Given the description of an element on the screen output the (x, y) to click on. 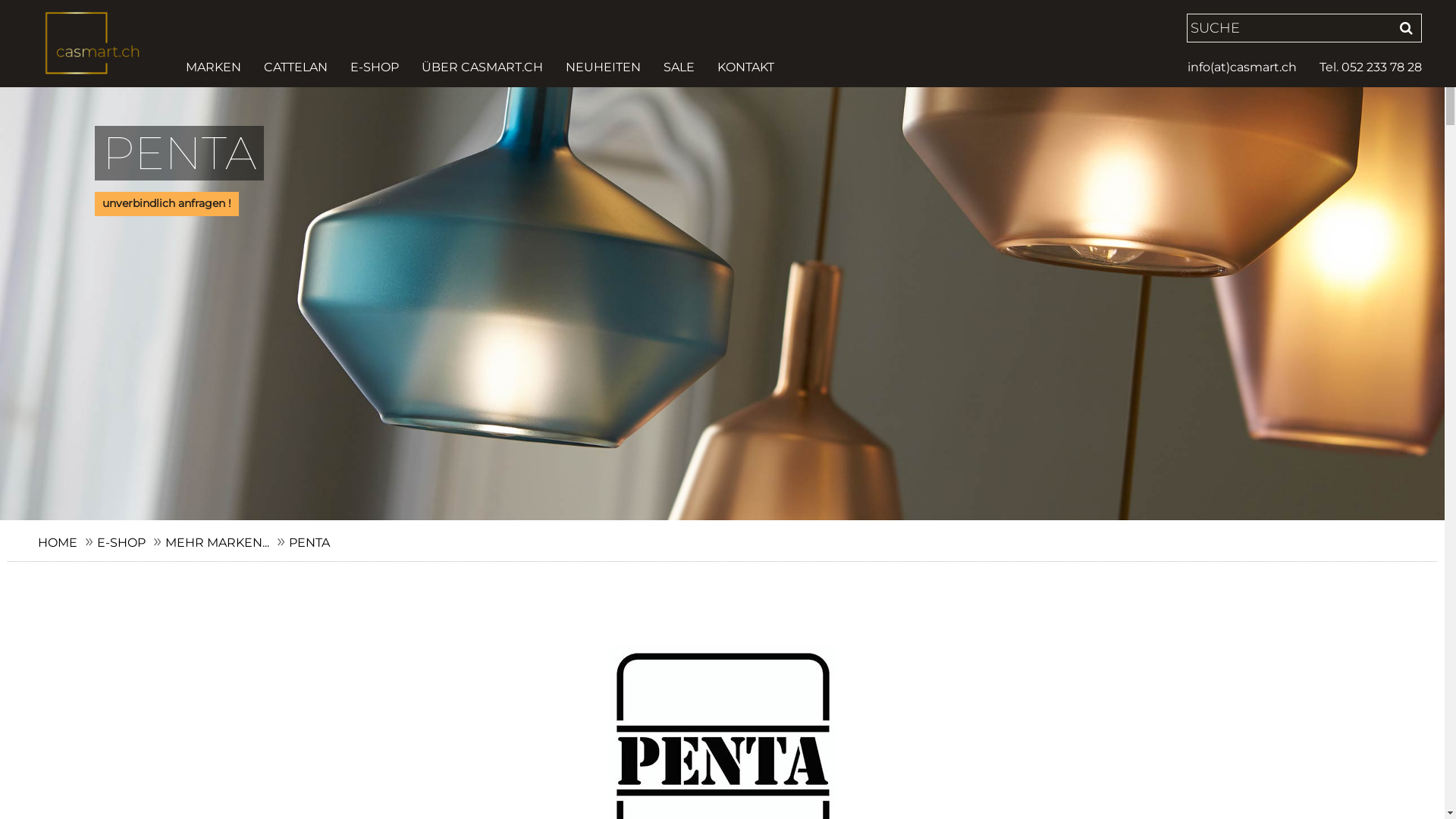
NEUHEITEN Element type: text (603, 67)
unverbindlich anfragen ! Element type: text (166, 203)
E-SHOP Element type: text (121, 542)
HOME Element type: text (57, 542)
KONTAKT Element type: text (740, 67)
CATTELAN Element type: text (295, 67)
MEHR MARKEN... Element type: text (217, 542)
Tel. 052 233 78 28 Element type: text (1364, 67)
SALE Element type: text (679, 67)
info(at)casmart.ch Element type: text (1247, 67)
E-SHOP Element type: text (374, 67)
MARKEN Element type: text (218, 67)
PENTA Element type: text (308, 542)
